Given the description of an element on the screen output the (x, y) to click on. 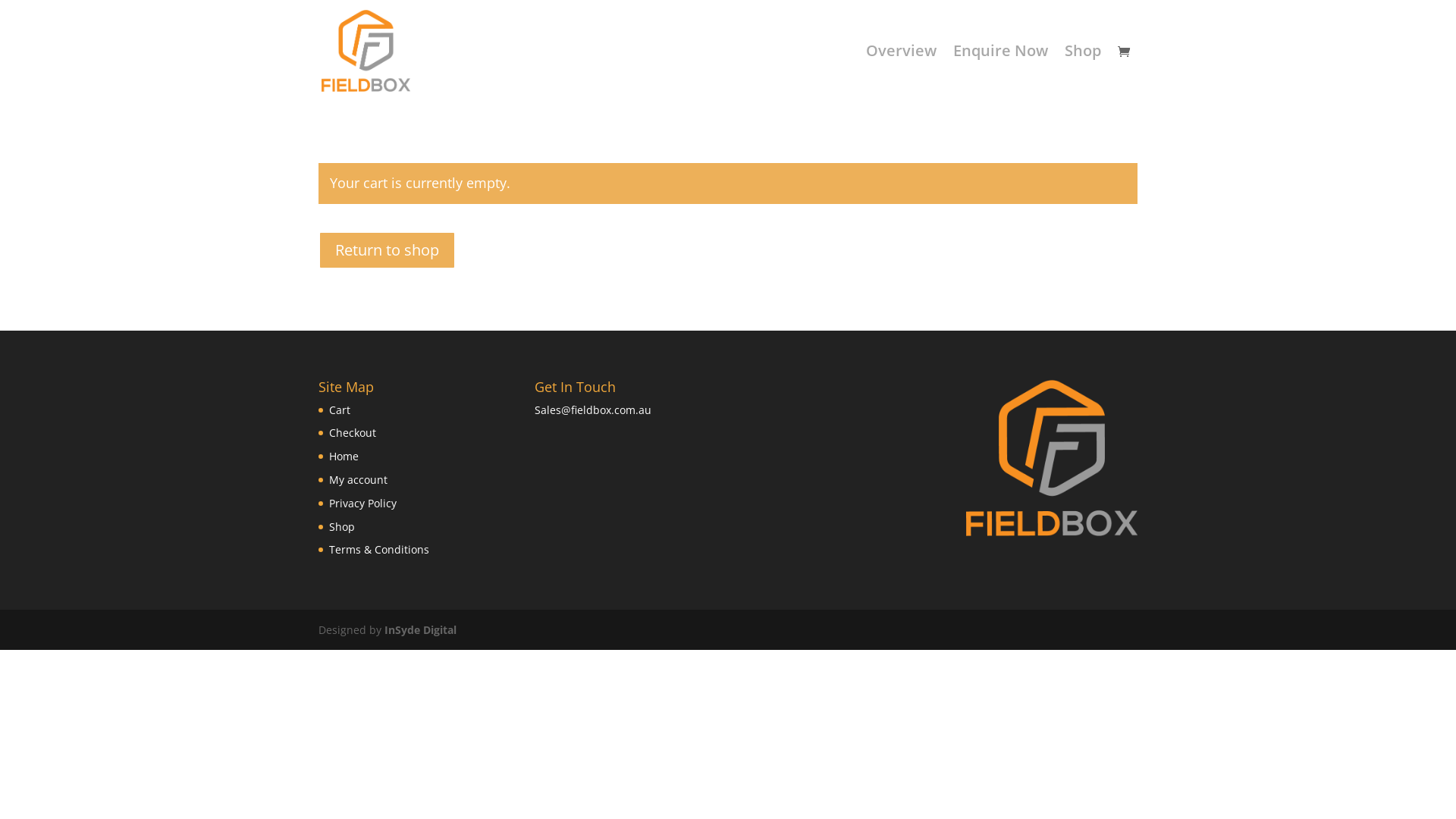
Enquire Now Element type: text (1000, 73)
InSyde Digital Element type: text (420, 629)
Checkout Element type: text (352, 432)
Shop Element type: text (1082, 73)
Cart Element type: text (339, 409)
Shop Element type: text (341, 526)
Terms & Conditions Element type: text (379, 549)
My account Element type: text (358, 479)
Privacy Policy Element type: text (362, 502)
Return to shop Element type: text (386, 250)
Overview Element type: text (901, 73)
Home Element type: text (343, 455)
